Given the description of an element on the screen output the (x, y) to click on. 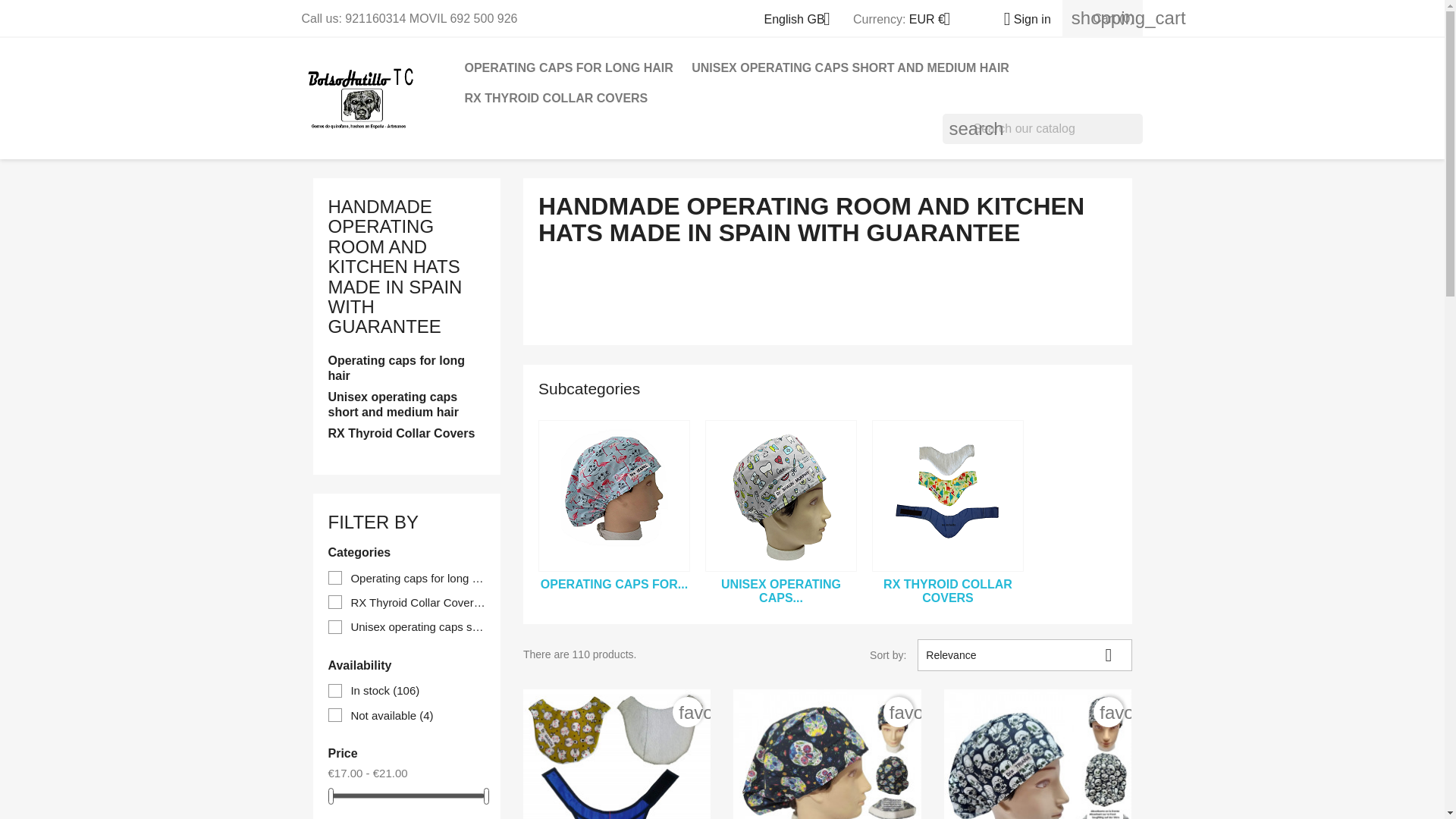
UNISEX OPERATING CAPS SHORT AND MEDIUM HAIR (850, 68)
OPERATING CAPS FOR LONG HAIR (568, 68)
Log in to your customer account (1020, 19)
Operating caps for long hair (614, 495)
RX Thyroid Collar Covers (405, 434)
Unisex operating caps short and medium hair (405, 405)
RX Thyroid Collar Covers (947, 495)
RX THYROID COLLAR COVERS (947, 591)
OPERATING CAPS FOR... (613, 584)
Operating caps for long hair (405, 368)
RX THYROID COLLAR COVERS (556, 98)
UNISEX OPERATING CAPS... (780, 591)
Unisex operating caps short and medium hair (780, 495)
